Given the description of an element on the screen output the (x, y) to click on. 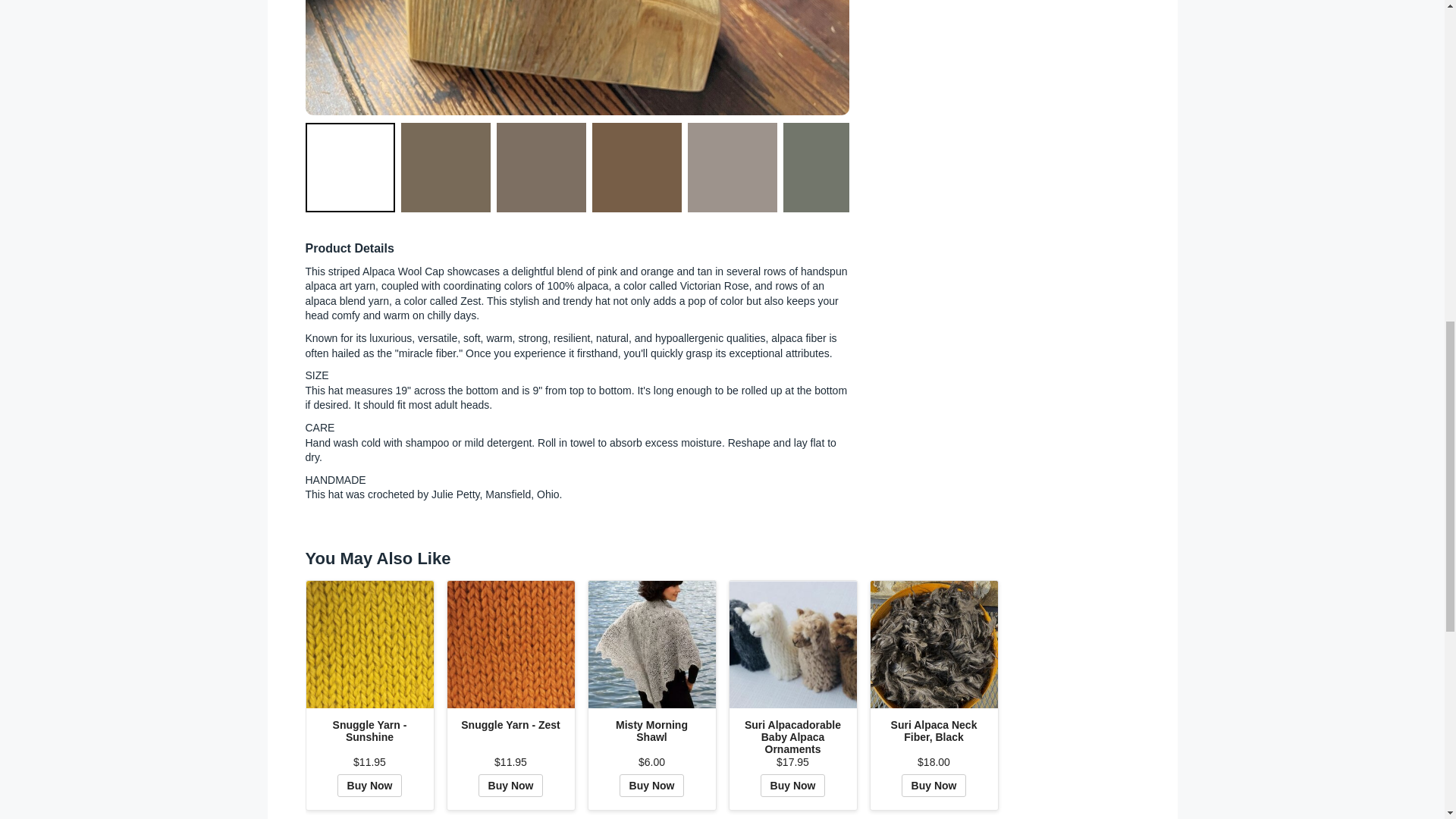
Striped Alpaca Wool Cap (576, 57)
Snuggle Yarn - Sunshine (369, 644)
